Given the description of an element on the screen output the (x, y) to click on. 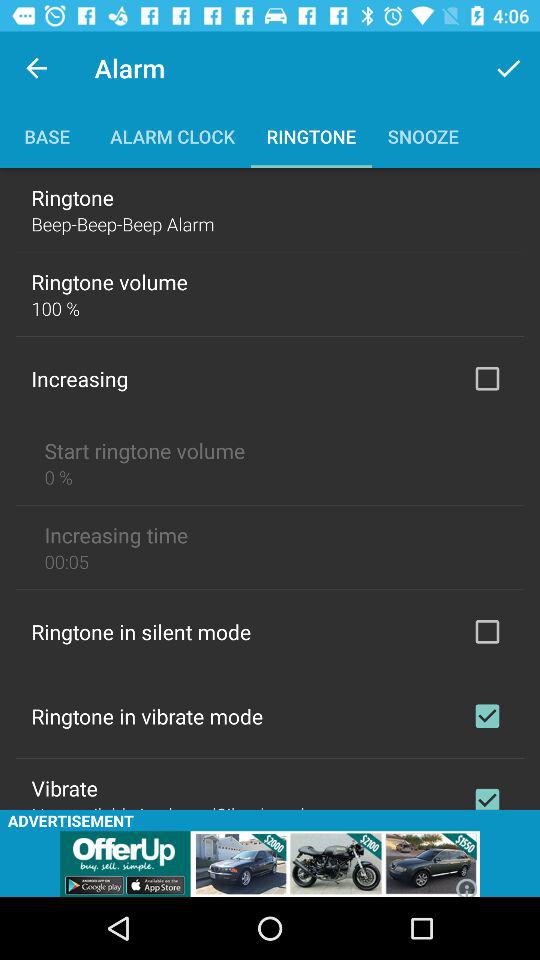
tick option (487, 378)
